Given the description of an element on the screen output the (x, y) to click on. 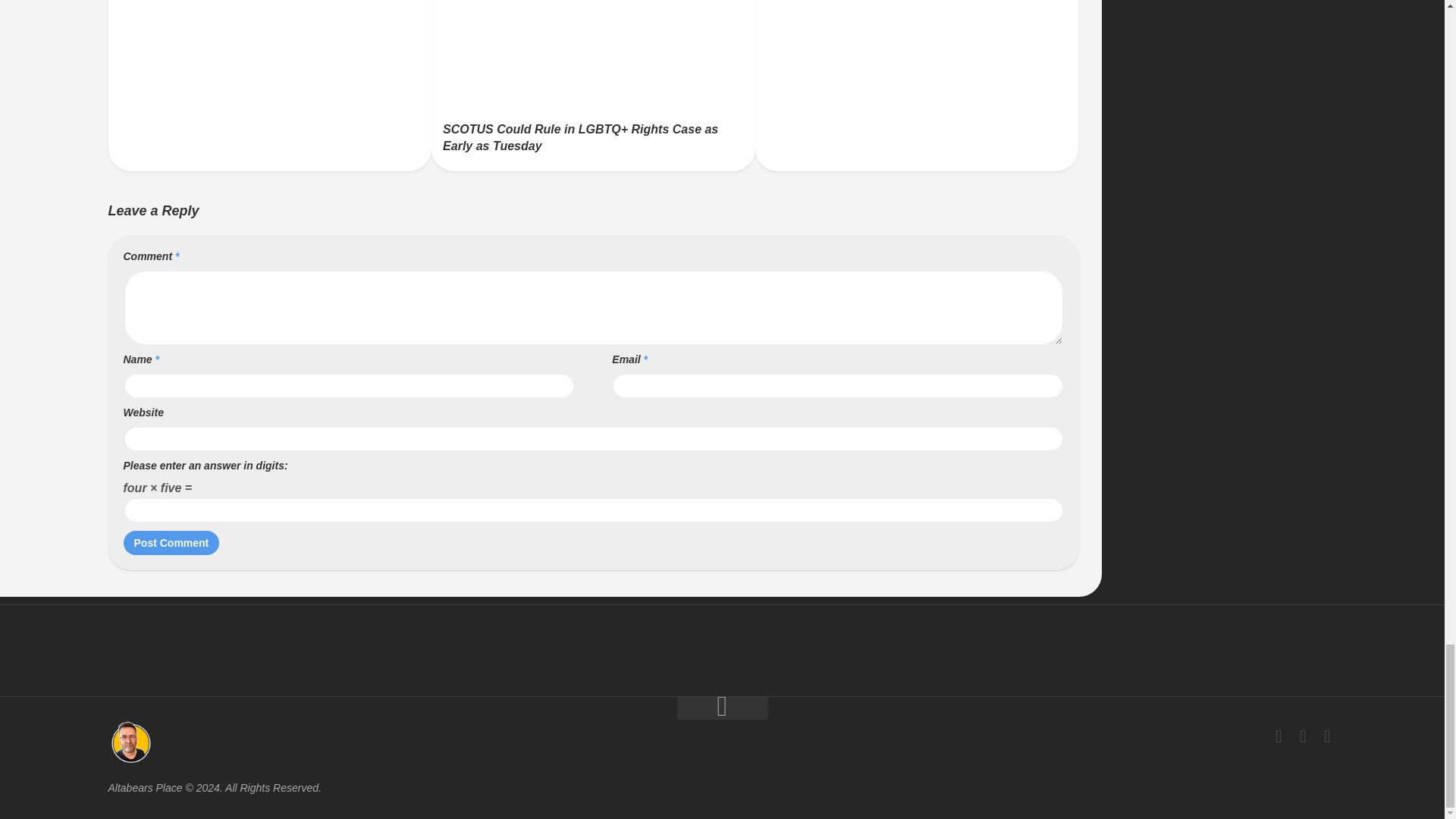
Instagram (1326, 736)
Facebook (1278, 736)
Twitter (1302, 736)
Post Comment (170, 542)
